Given the description of an element on the screen output the (x, y) to click on. 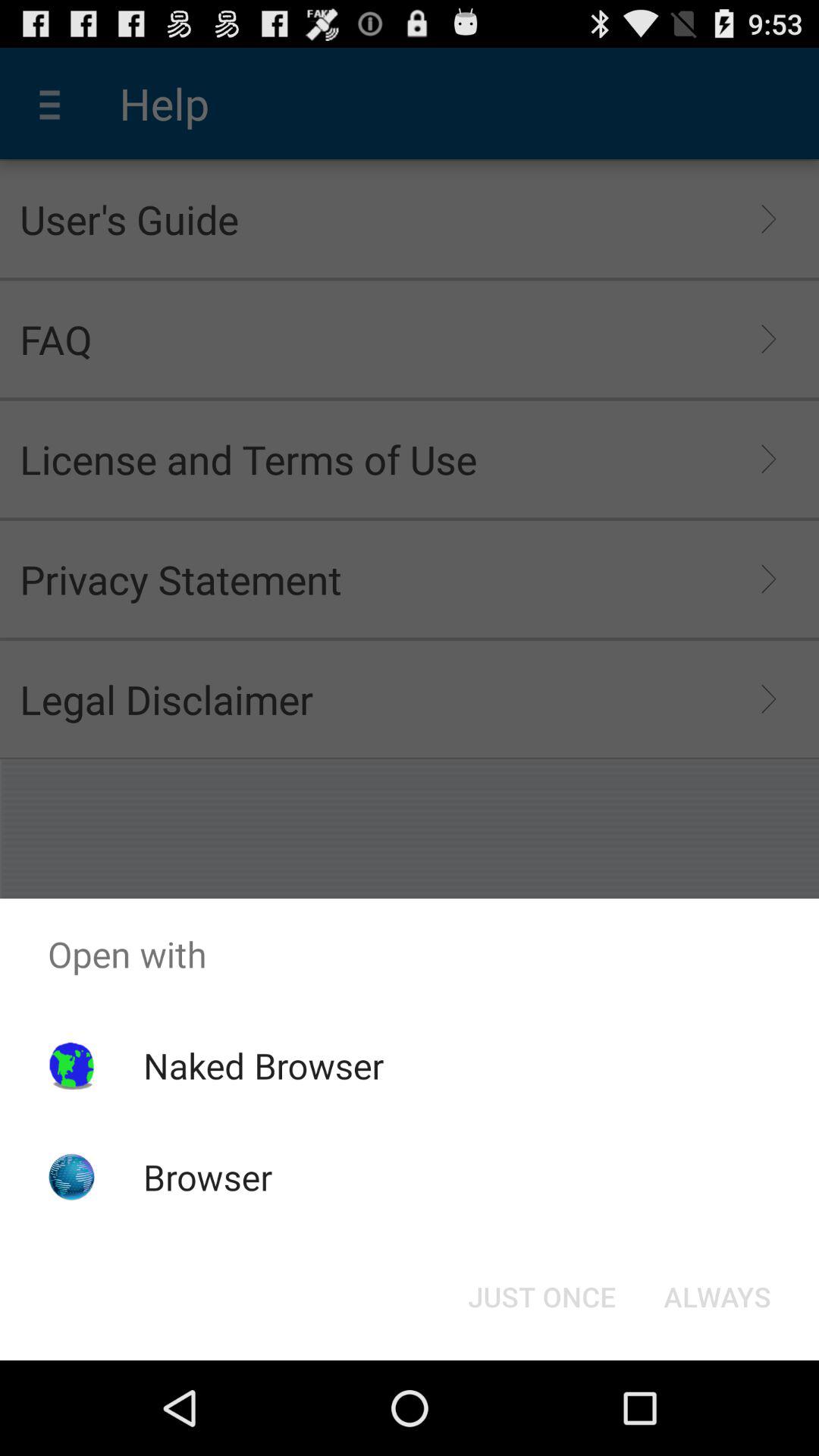
press the button at the bottom (541, 1296)
